Given the description of an element on the screen output the (x, y) to click on. 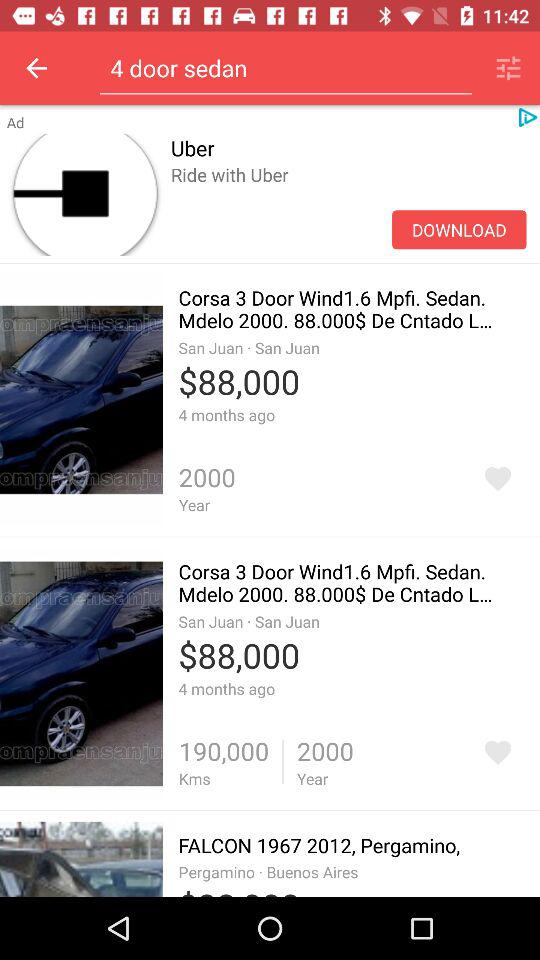
swipe to the download item (459, 229)
